Given the description of an element on the screen output the (x, y) to click on. 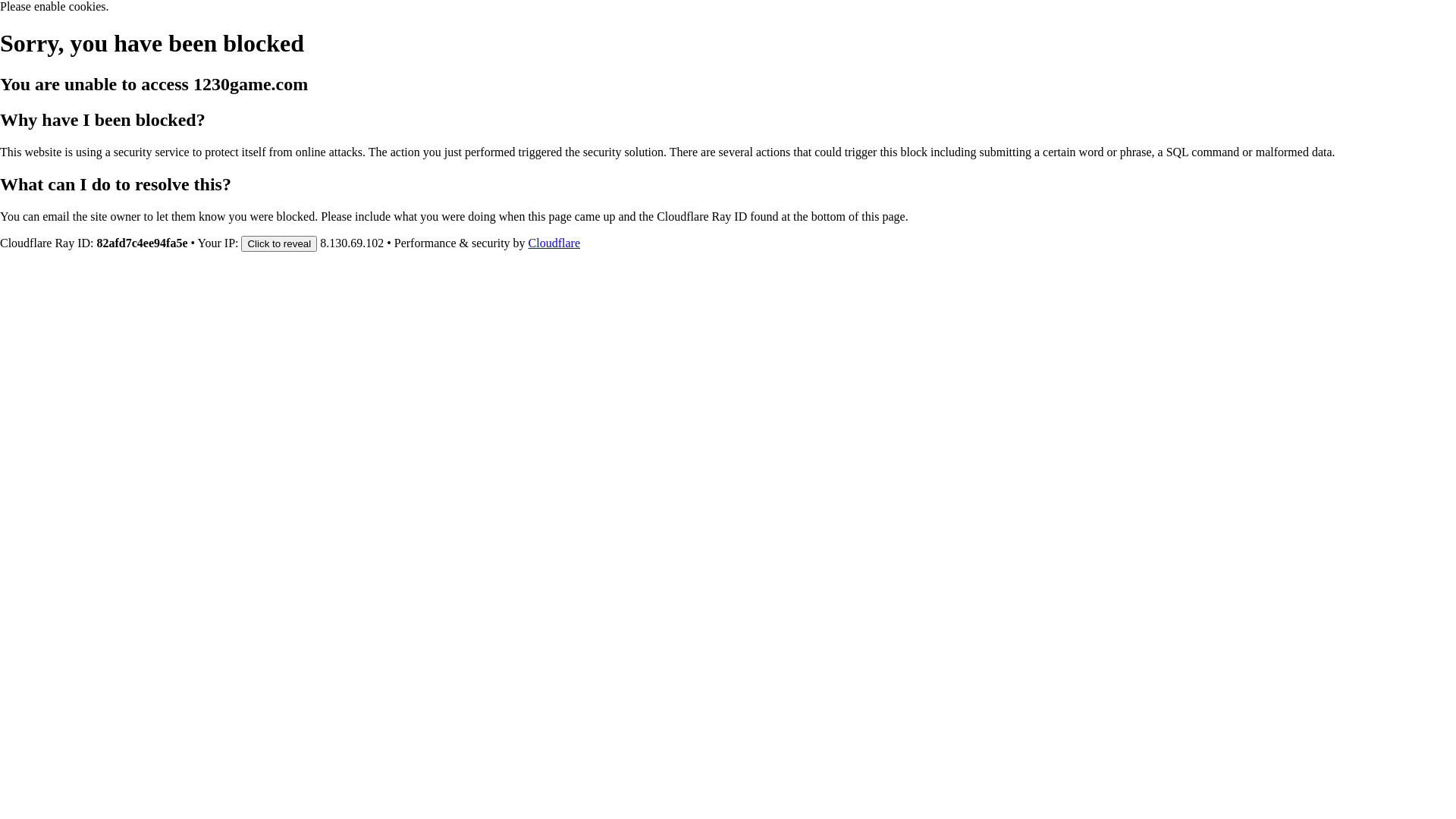
Cloudflare Element type: text (554, 242)
Click to reveal Element type: text (278, 243)
